Given the description of an element on the screen output the (x, y) to click on. 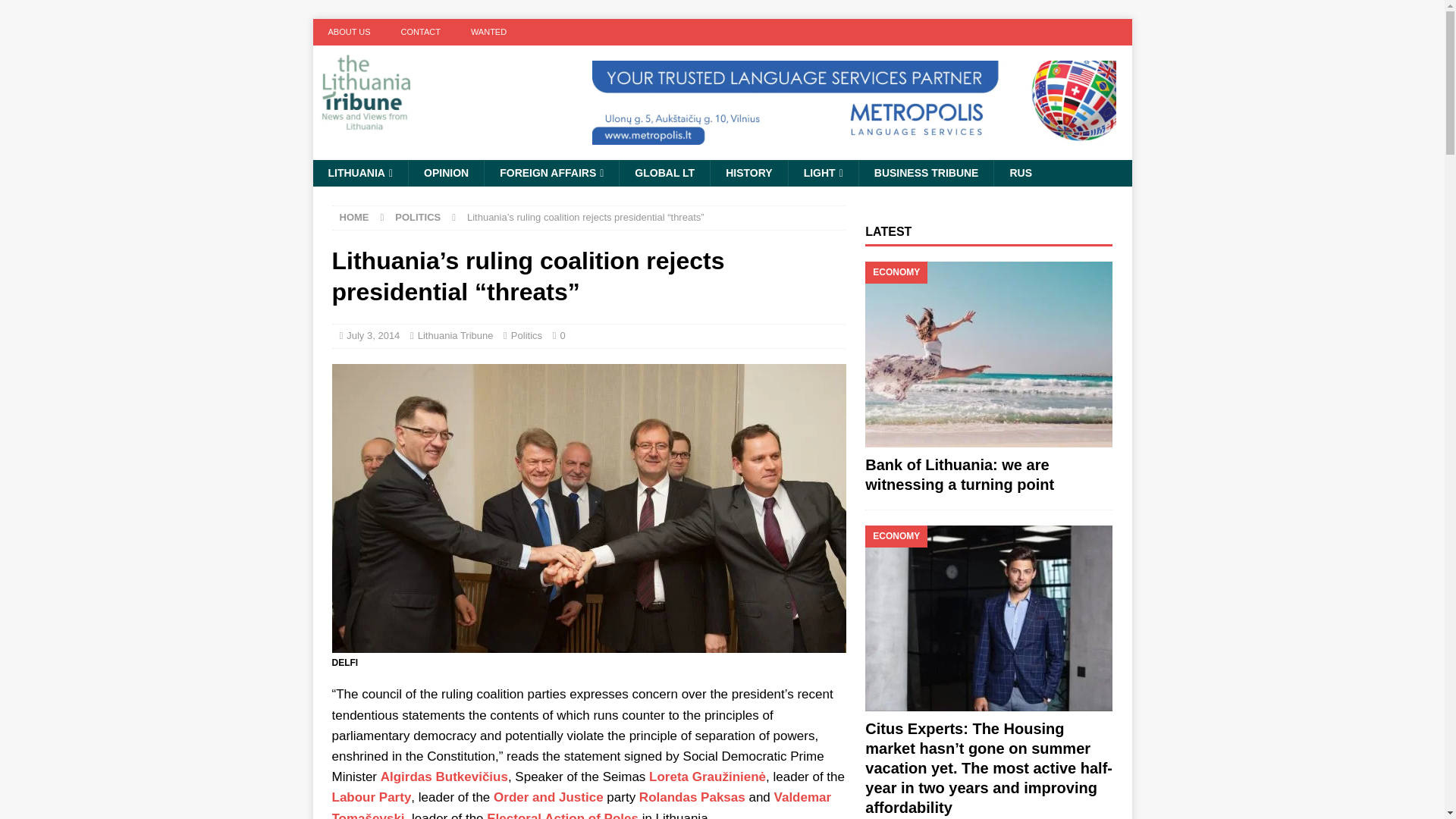
ABOUT US (349, 31)
WANTED (488, 31)
LITHUANIA (360, 172)
CONTACT (420, 31)
